Given the description of an element on the screen output the (x, y) to click on. 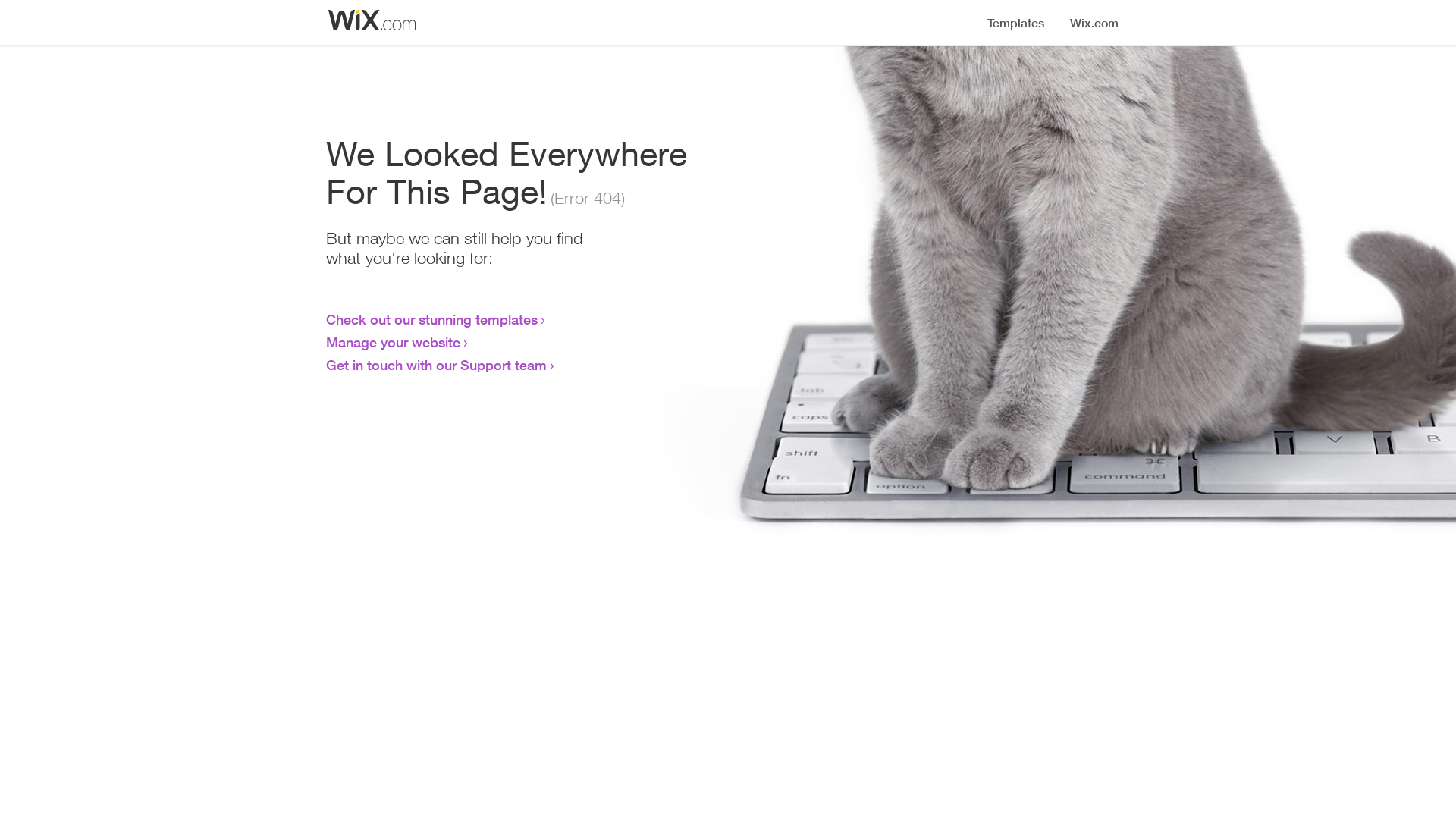
Check out our stunning templates Element type: text (431, 318)
Manage your website Element type: text (393, 341)
Get in touch with our Support team Element type: text (436, 364)
